Given the description of an element on the screen output the (x, y) to click on. 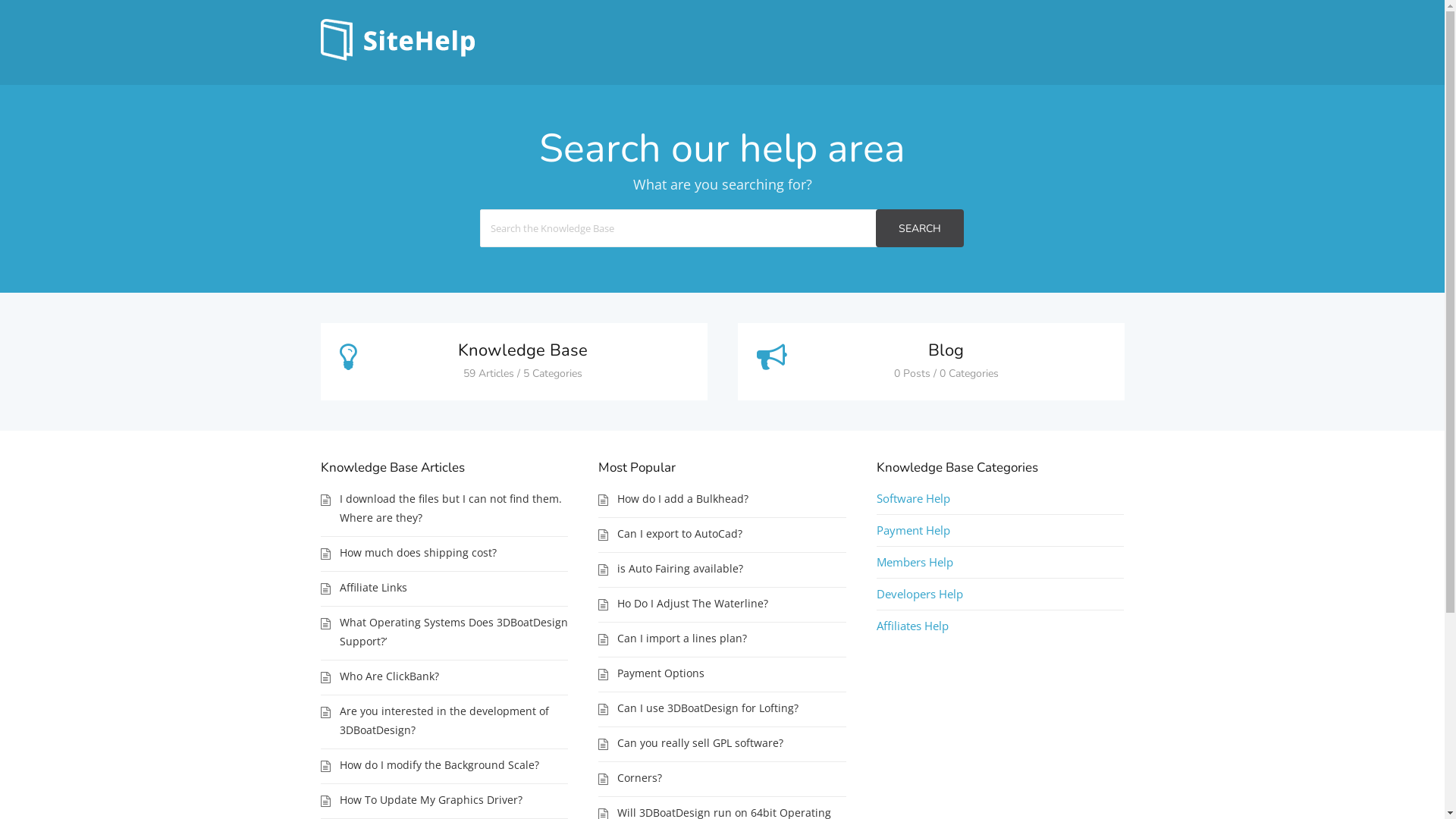
3dBoatDesign Support Element type: hover (397, 55)
Affiliate Links Element type: text (453, 586)
Payment Help Element type: text (913, 529)
Software Help Element type: text (913, 497)
Who Are ClickBank? Element type: text (453, 675)
Blog
0 Posts / 0 Categories Element type: text (930, 361)
SEARCH Element type: text (919, 228)
Can I import a lines plan? Element type: text (731, 637)
Corners? Element type: text (731, 777)
How do I add a Bulkhead? Element type: text (731, 498)
Can you really sell GPL software? Element type: text (731, 742)
How much does shipping cost? Element type: text (453, 551)
Members Help Element type: text (914, 561)
Developers Help Element type: text (919, 593)
Knowledge Base
59 Articles / 5 Categories Element type: text (513, 361)
Are you interested in the development of 3DBoatDesign? Element type: text (453, 720)
Payment Options Element type: text (731, 672)
is Auto Fairing available? Element type: text (731, 567)
Affiliates Help Element type: text (912, 625)
Ho Do I Adjust The Waterline? Element type: text (731, 602)
Can I use 3DBoatDesign for Lofting? Element type: text (731, 707)
How To Update My Graphics Driver? Element type: text (453, 799)
How do I modify the Background Scale? Element type: text (453, 764)
Can I export to AutoCad? Element type: text (731, 533)
